Given the description of an element on the screen output the (x, y) to click on. 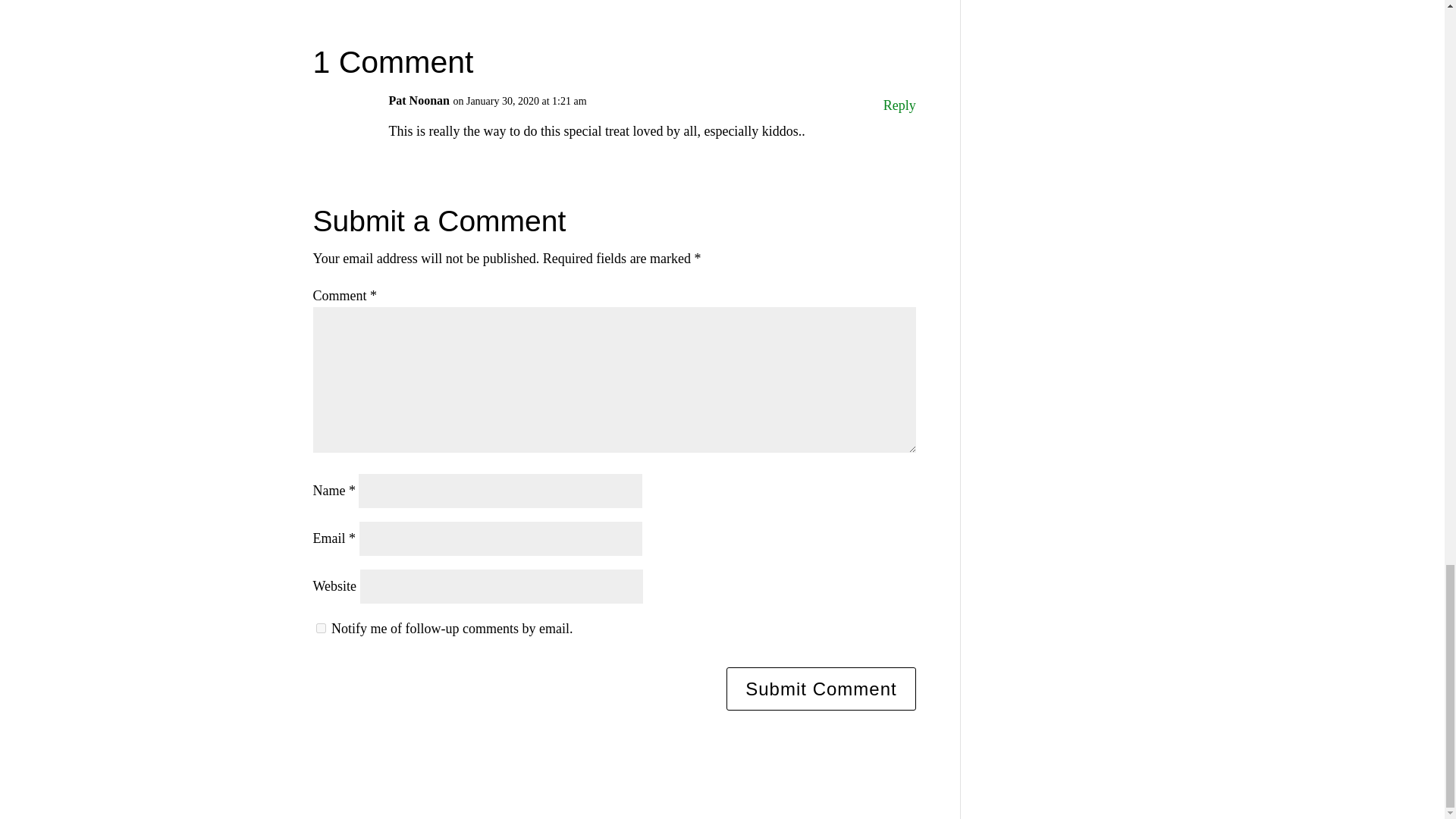
Submit Comment (820, 688)
Submit Comment (820, 688)
Reply (899, 105)
subscribe (319, 628)
